Given the description of an element on the screen output the (x, y) to click on. 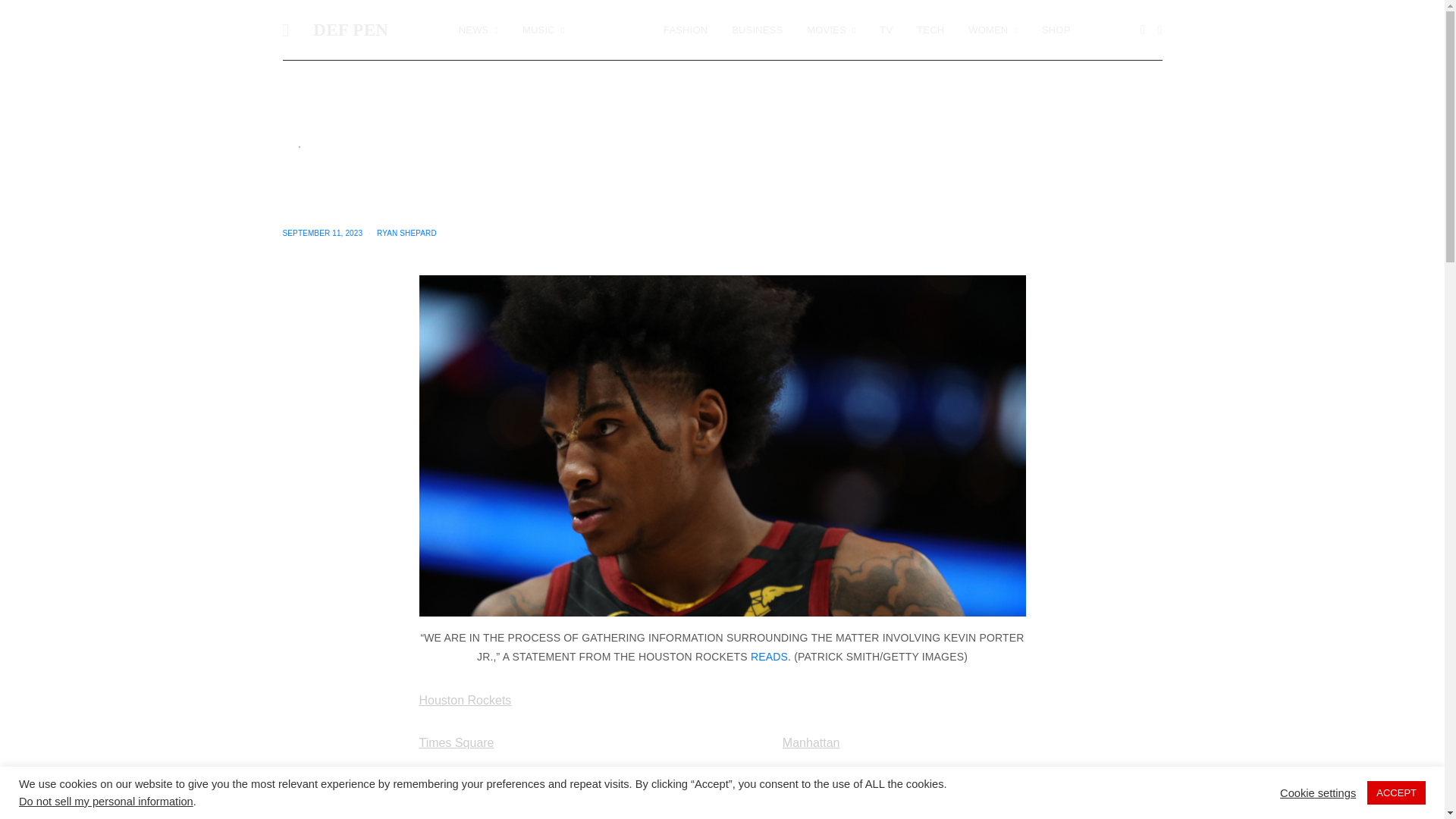
View all posts by Ryan Shepard (406, 233)
